Given the description of an element on the screen output the (x, y) to click on. 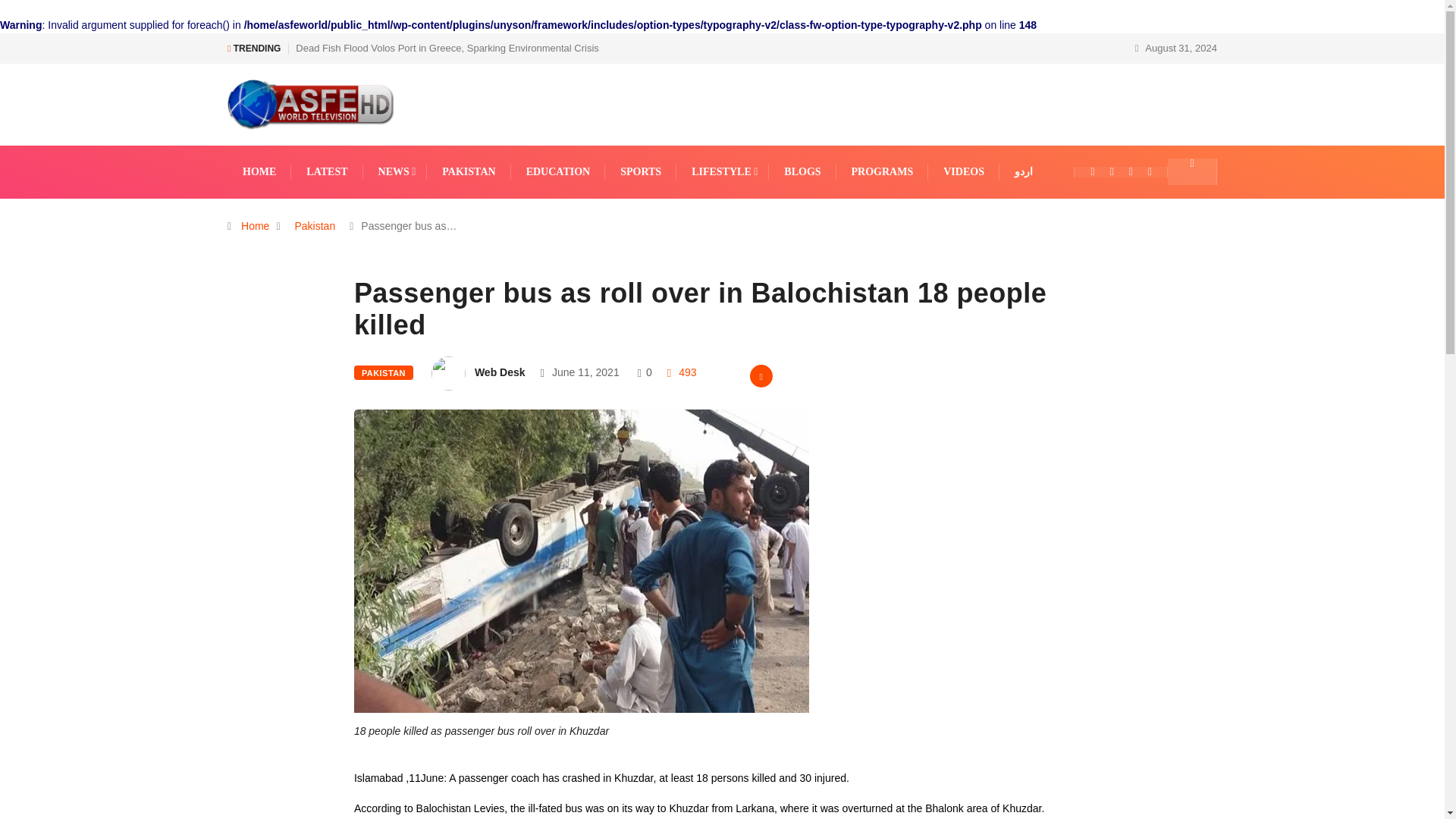
PROGRAMS (882, 172)
Pakistan (315, 225)
Home (255, 225)
PAKISTAN (468, 172)
LIFESTYLE (722, 172)
EDUCATION (558, 172)
PAKISTAN (383, 372)
